Given the description of an element on the screen output the (x, y) to click on. 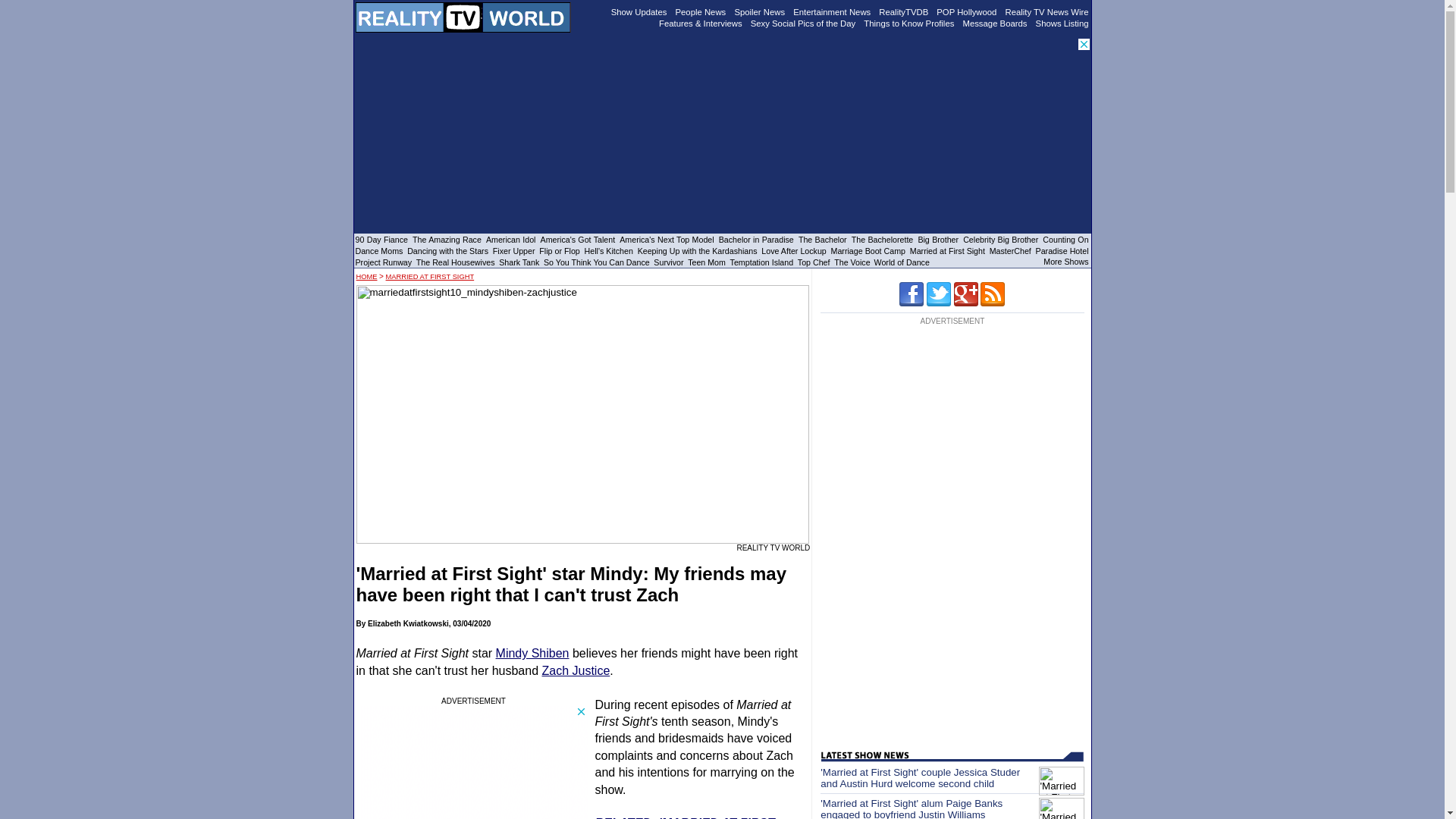
MasterChef (1010, 250)
Social Pics (803, 22)
Things to Know Profiles (908, 22)
POP Hollywood (965, 11)
RealityTVDB (903, 11)
90 Day Fiance (381, 239)
The Bachelor (822, 239)
The Bachelorette (882, 239)
Dance Moms (379, 250)
Sexy Social Pics of the Day (803, 22)
